Given the description of an element on the screen output the (x, y) to click on. 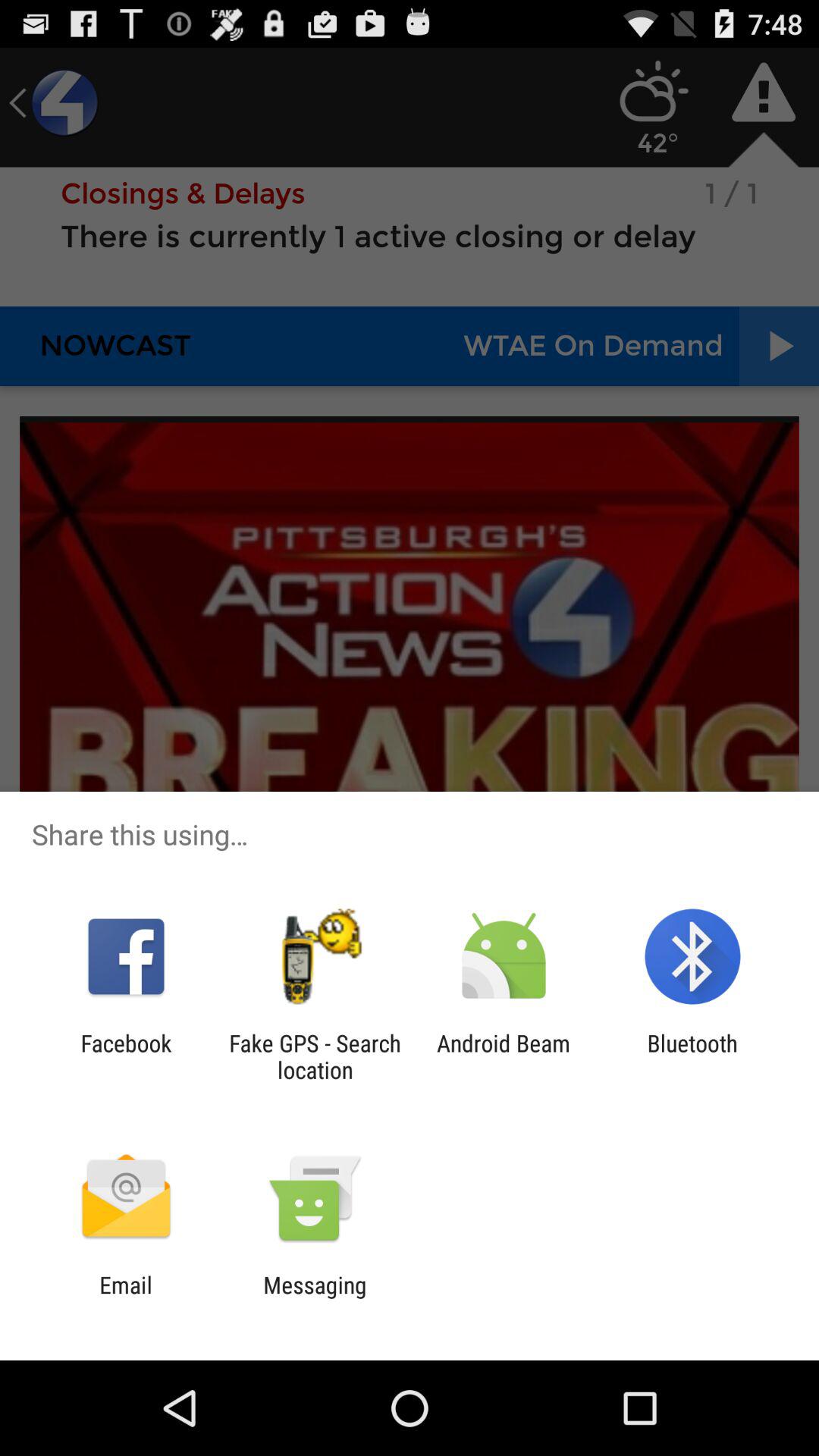
scroll until the bluetooth icon (692, 1056)
